Given the description of an element on the screen output the (x, y) to click on. 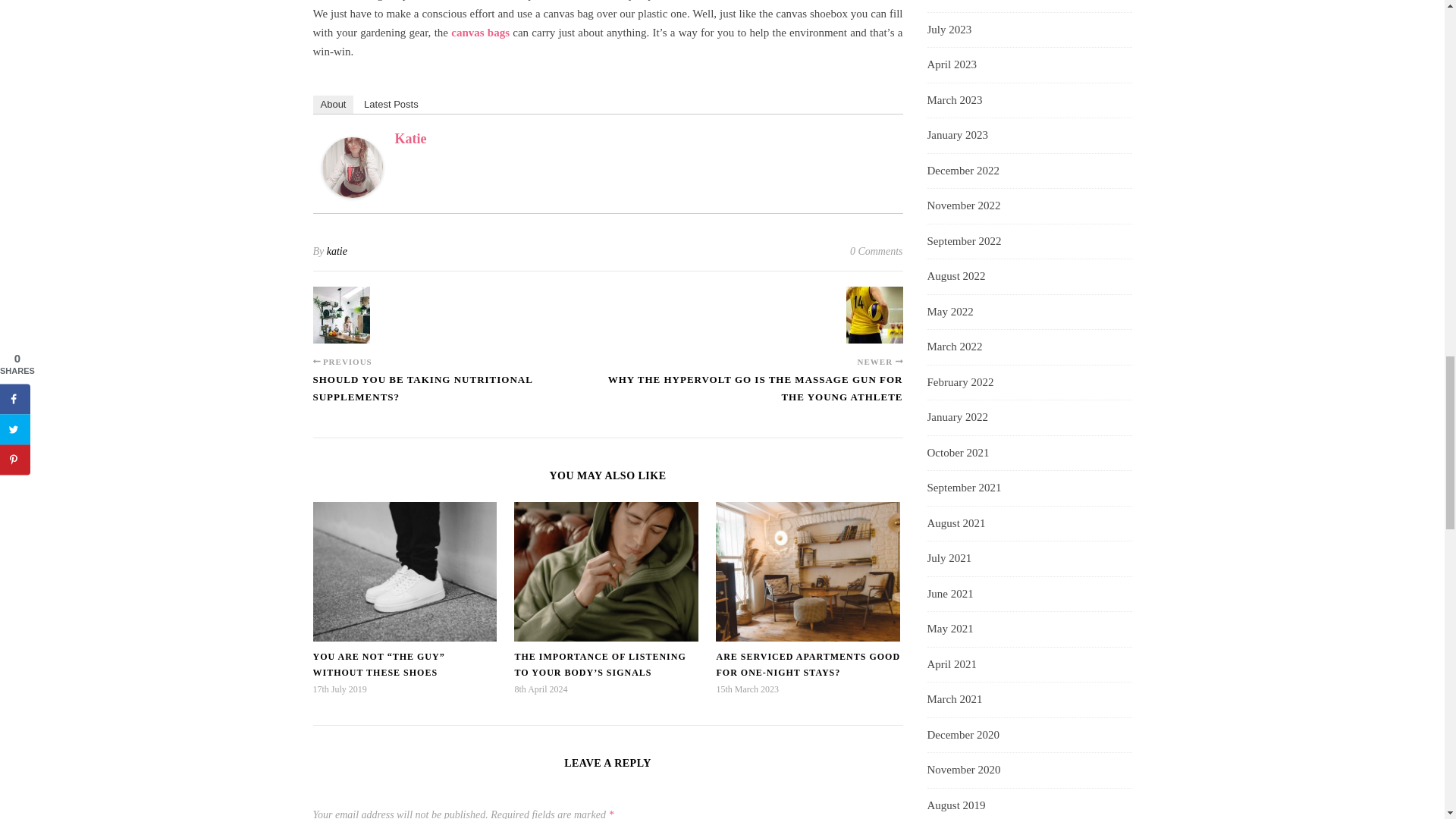
katie (336, 251)
SHOULD YOU BE TAKING NUTRITIONAL SUPPLEMENTS? (460, 395)
canvas bags (480, 32)
katie (351, 167)
Katie (410, 138)
Should You Be Taking Nutritional Supplements? (341, 314)
Posts by katie (336, 251)
About (333, 104)
0 Comments (876, 251)
Latest Posts (391, 104)
Should You Be Taking Nutritional Supplements? (460, 395)
